Given the description of an element on the screen output the (x, y) to click on. 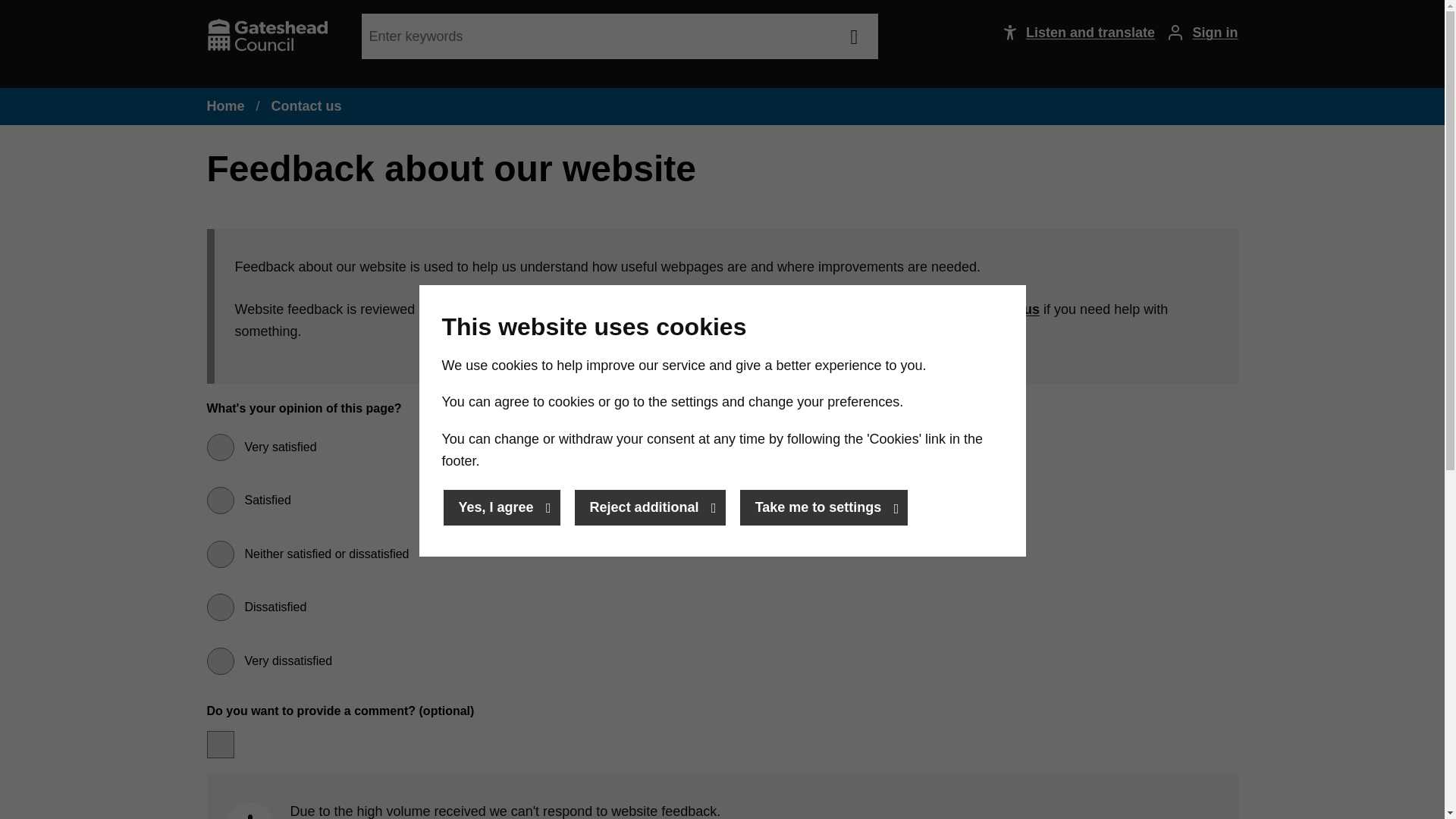
Contact us (306, 105)
Search this website (853, 36)
Yes, I agree (500, 507)
Reject additional (649, 507)
Skip to main content (16, 15)
Sign in (1196, 32)
Home (225, 105)
contact us (1005, 309)
Listen and translate (1071, 32)
Take me to settings (824, 507)
